Given the description of an element on the screen output the (x, y) to click on. 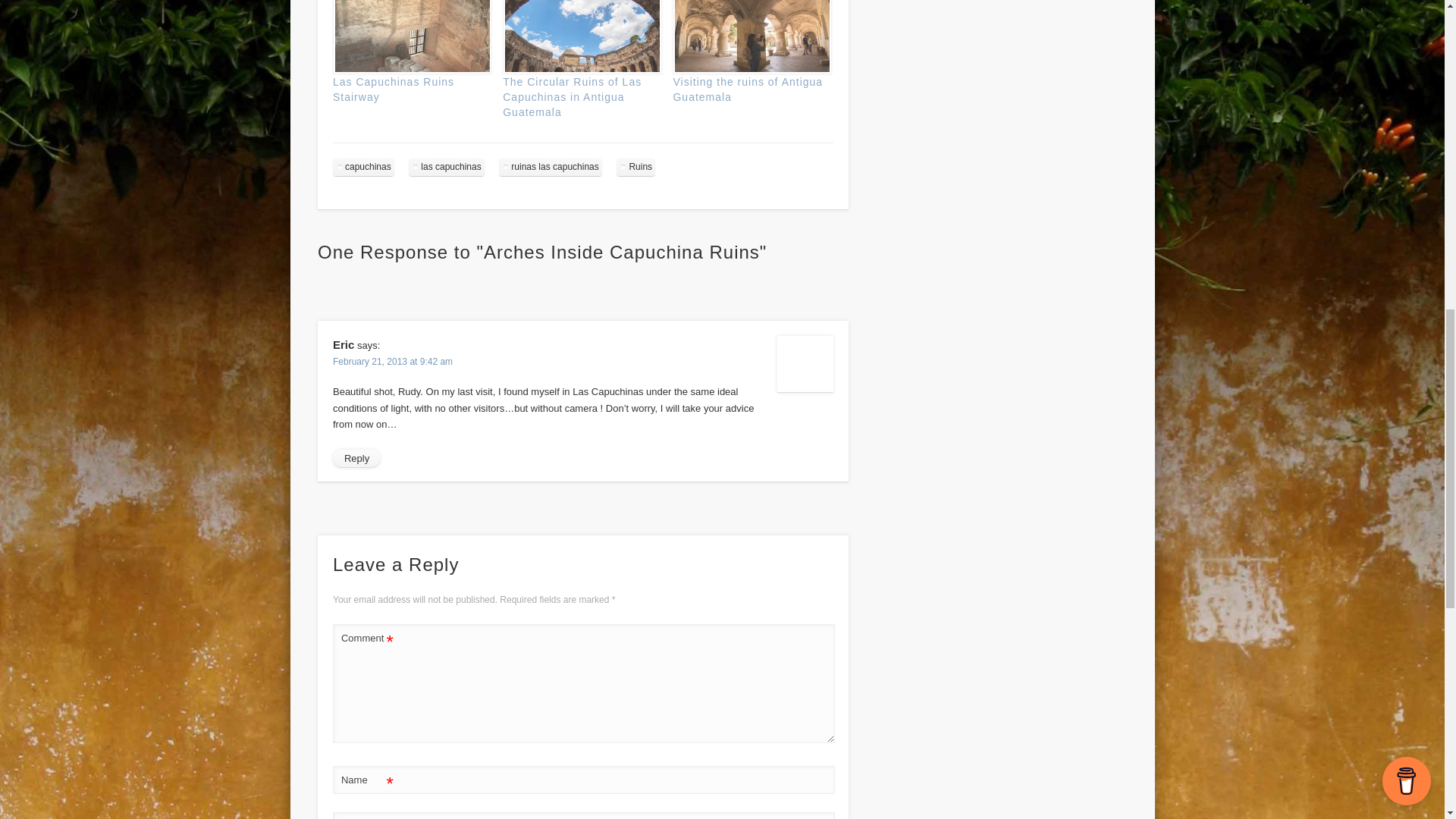
Las Capuchinas Ruins Stairway (393, 89)
The Circular Ruins of Las Capuchinas in Antigua Guatemala (572, 96)
February 21, 2013 at 9:42 am (392, 361)
Las Capuchinas Ruins Stairway (393, 89)
ruinas las capuchinas (550, 167)
Visiting the ruins of Antigua Guatemala (747, 89)
Visiting the ruins of Antigua Guatemala (747, 89)
Las Capuchinas Ruins Stairway (410, 37)
las capuchinas (446, 167)
Ruins (635, 167)
Visiting the ruins of Antigua Guatemala (749, 37)
capuchinas (363, 167)
The Circular Ruins of Las Capuchinas in Antigua Guatemala (580, 37)
Reply (356, 458)
The Circular Ruins of Las Capuchinas in Antigua Guatemala (572, 96)
